Given the description of an element on the screen output the (x, y) to click on. 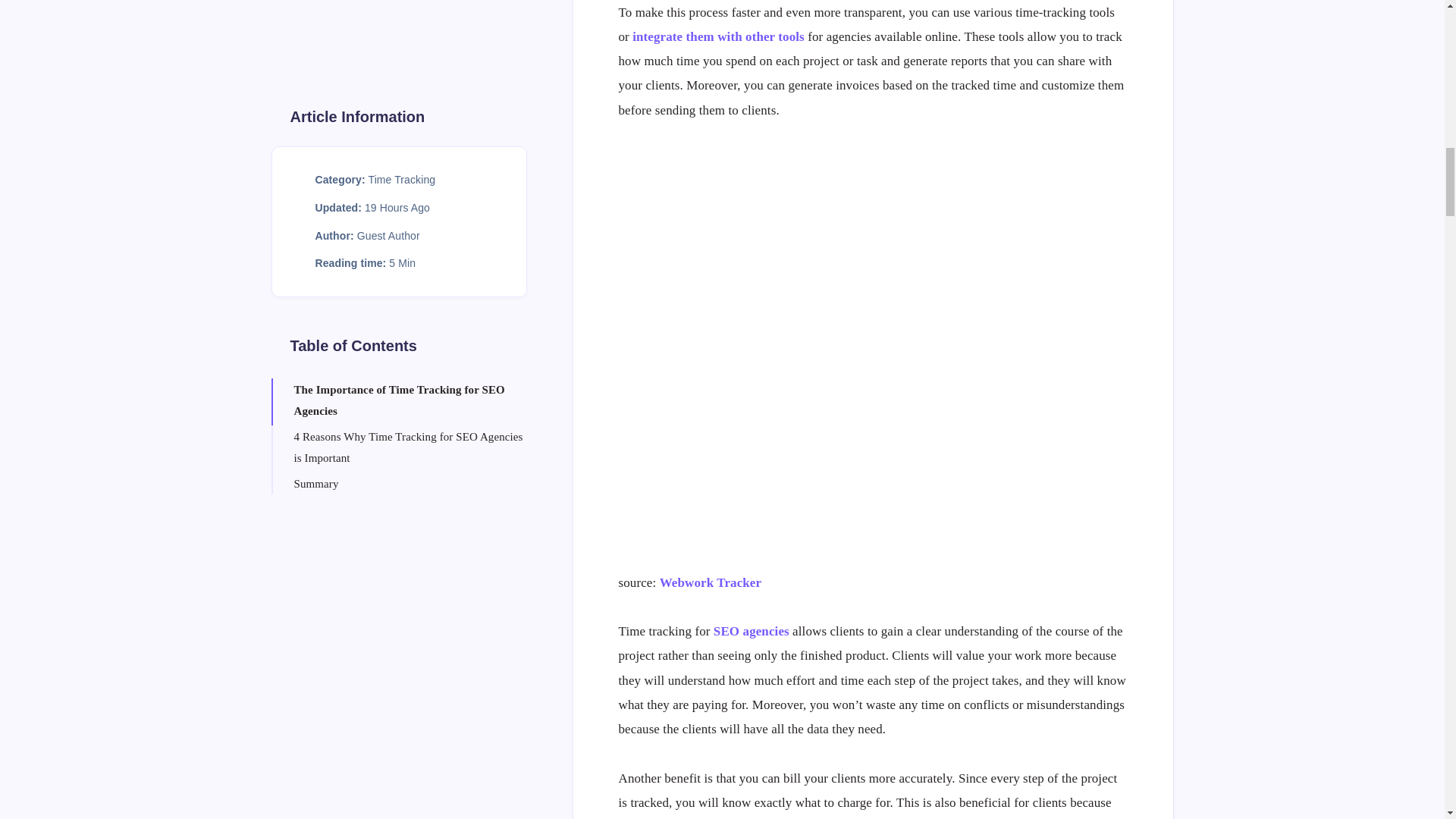
integrate them with other tools (716, 36)
Webwork Tracker (710, 582)
SEO agencies (751, 631)
